Given the description of an element on the screen output the (x, y) to click on. 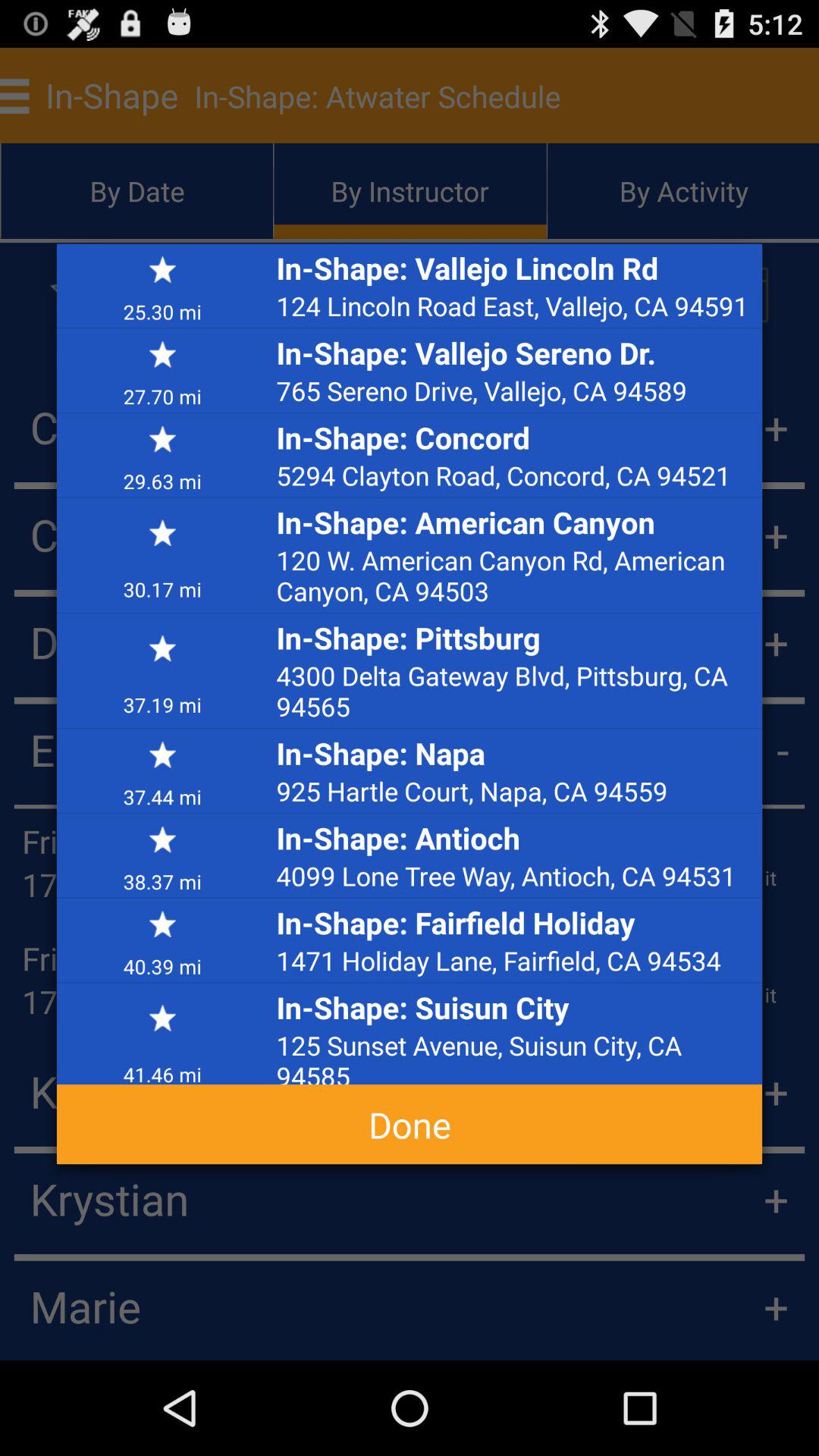
jump to 41.46 mi app (162, 1068)
